Given the description of an element on the screen output the (x, y) to click on. 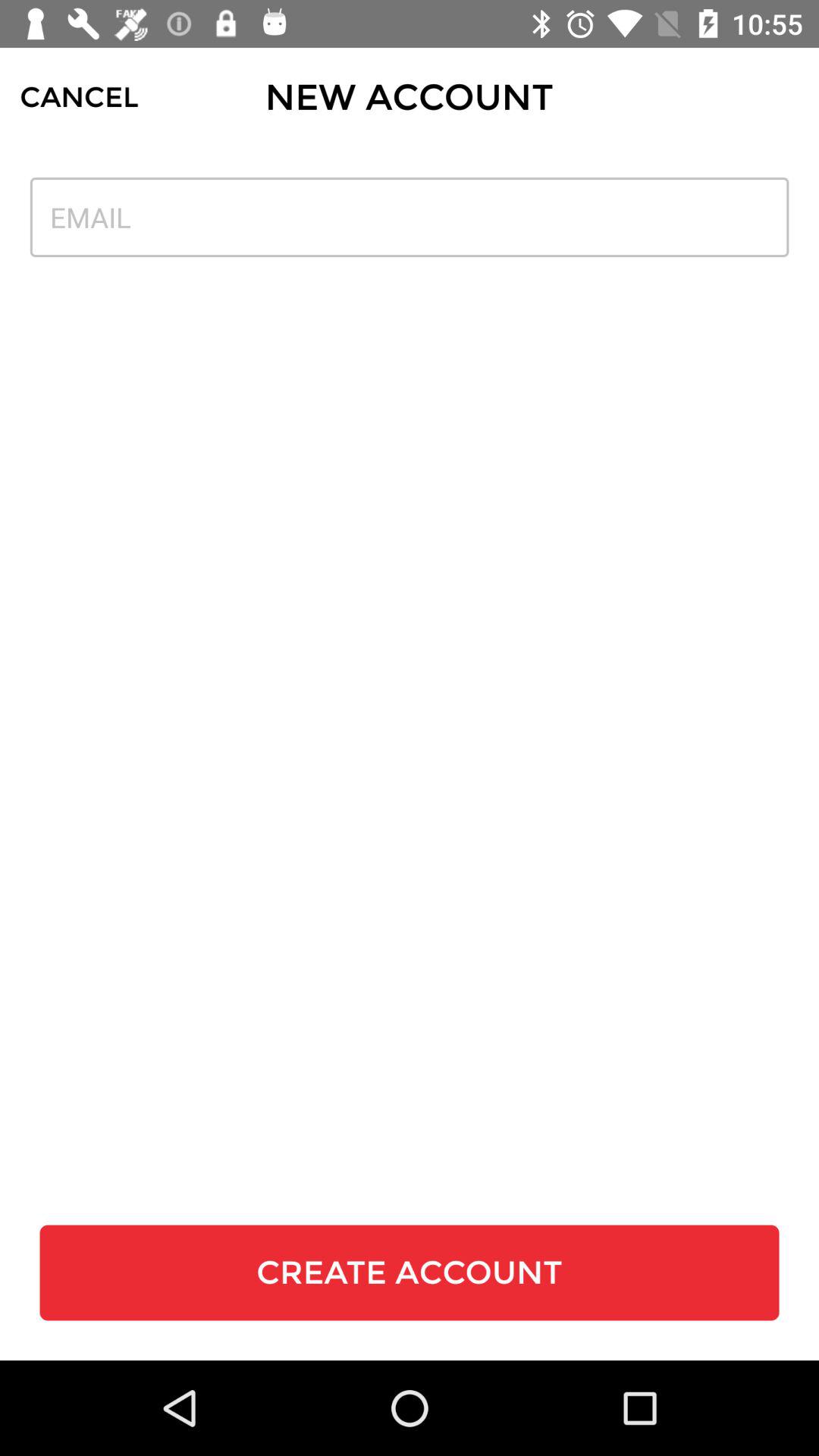
click the item below the new account (409, 217)
